Given the description of an element on the screen output the (x, y) to click on. 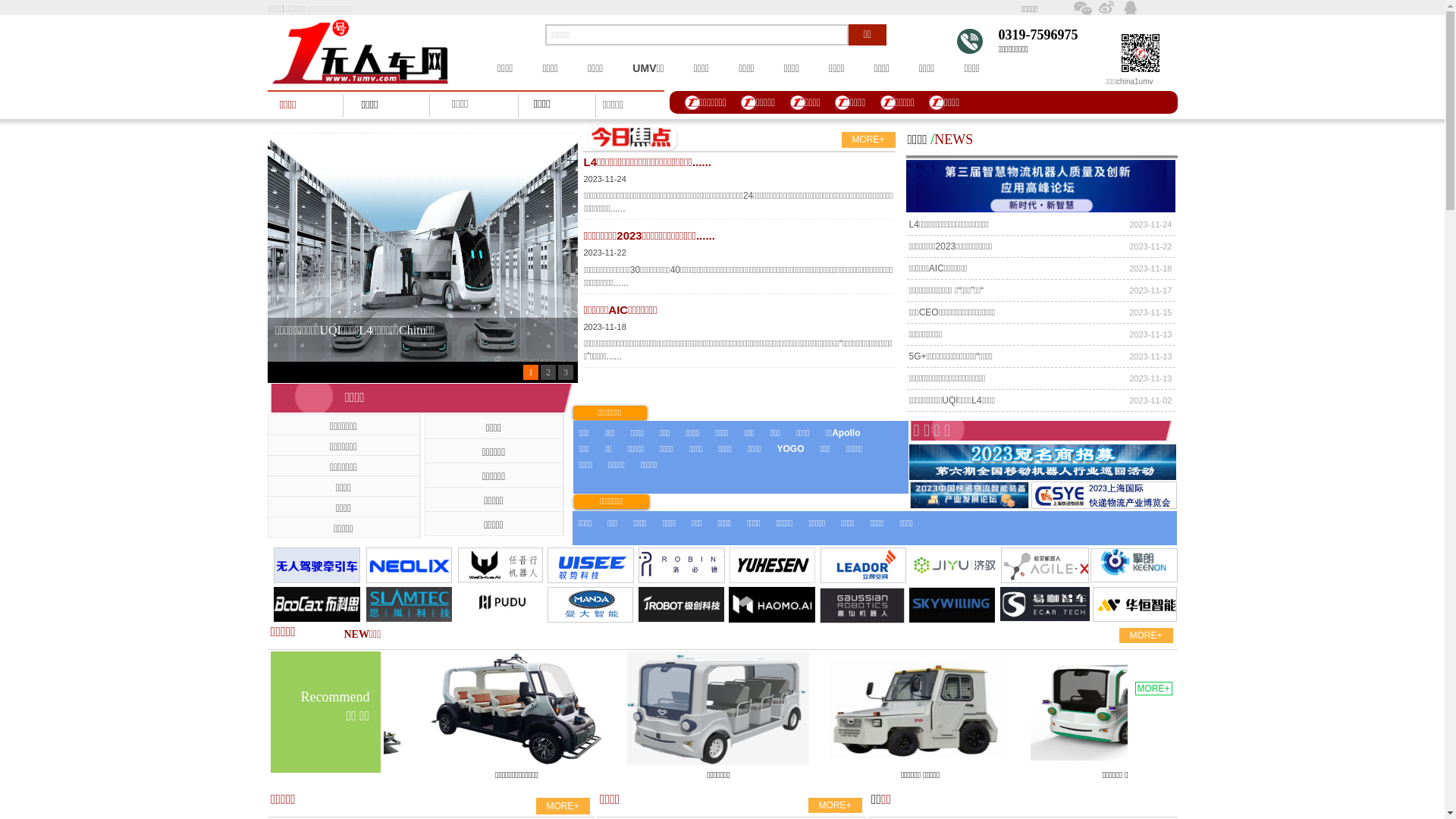
YOGO Element type: text (789, 448)
MORE+ Element type: text (868, 139)
MORE+ Element type: text (835, 804)
MORE+ Element type: text (1146, 635)
MORE+ Element type: text (562, 805)
MORE+ Element type: text (1152, 688)
